Given the description of an element on the screen output the (x, y) to click on. 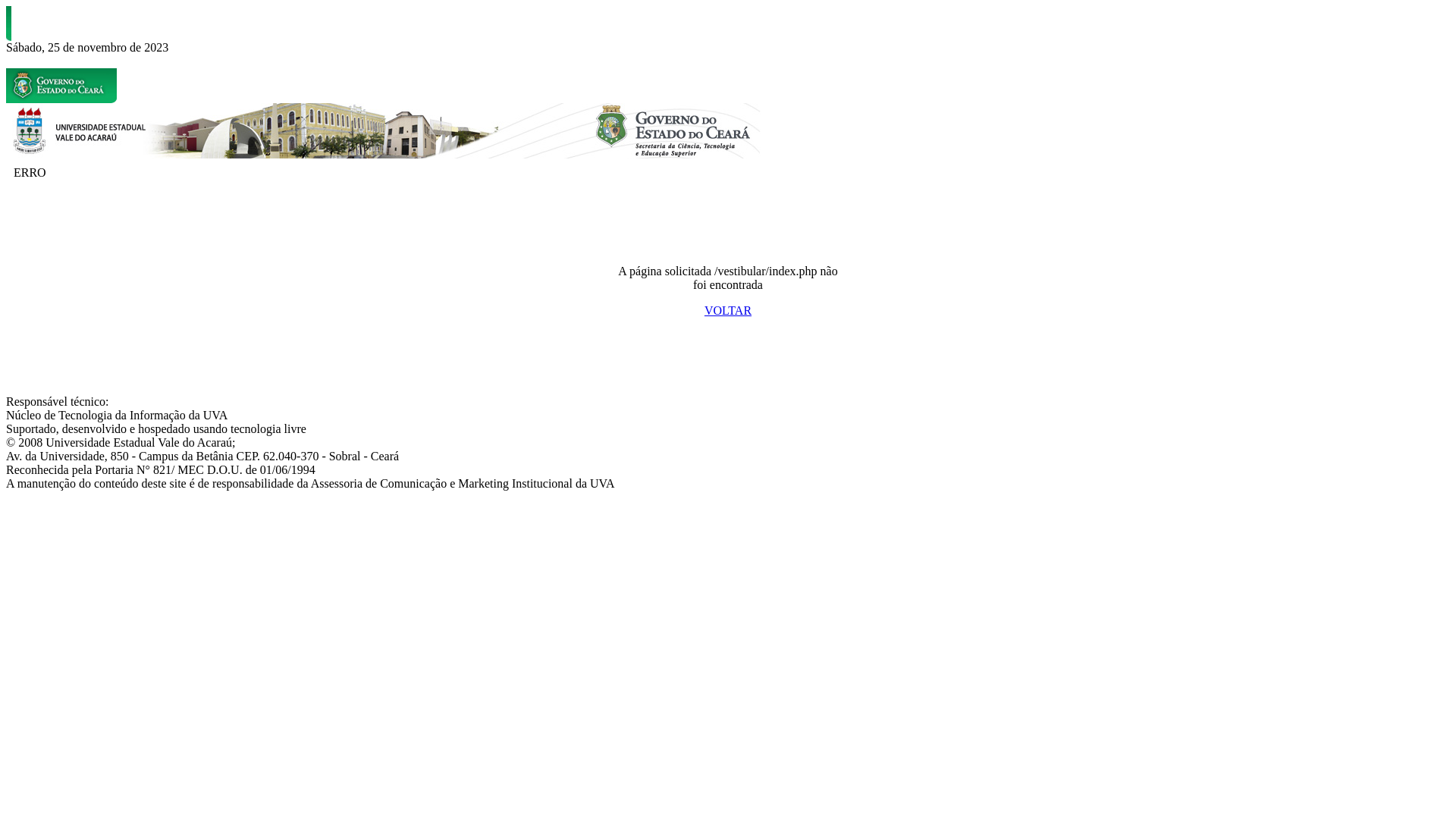
VOLTAR Element type: text (727, 310)
